Given the description of an element on the screen output the (x, y) to click on. 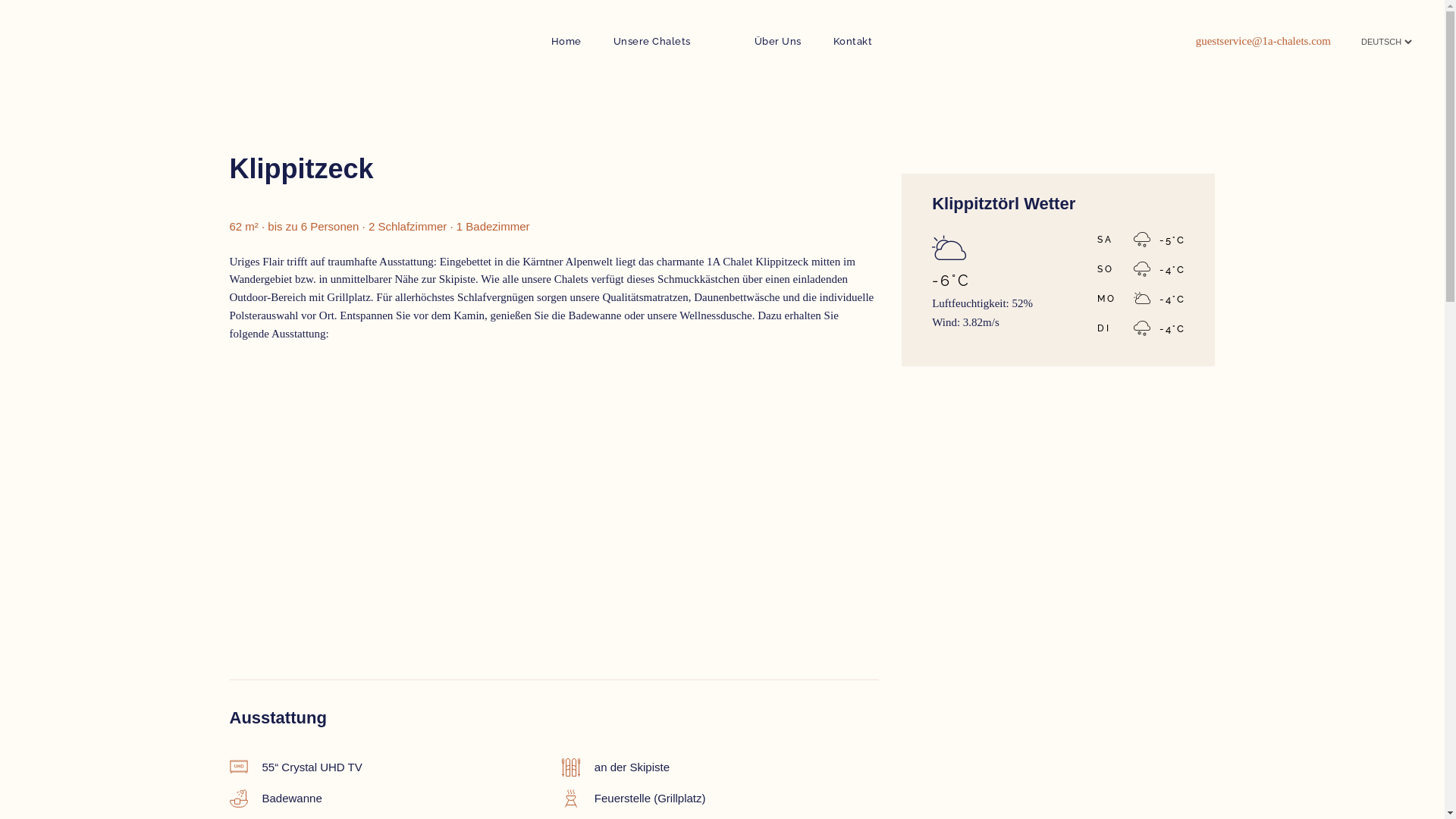
guestservice@1a-chalets.com Element type: text (1262, 40)
Home Element type: text (565, 41)
Unsere Chalets Element type: text (651, 41)
Kontakt Element type: text (852, 41)
